Given the description of an element on the screen output the (x, y) to click on. 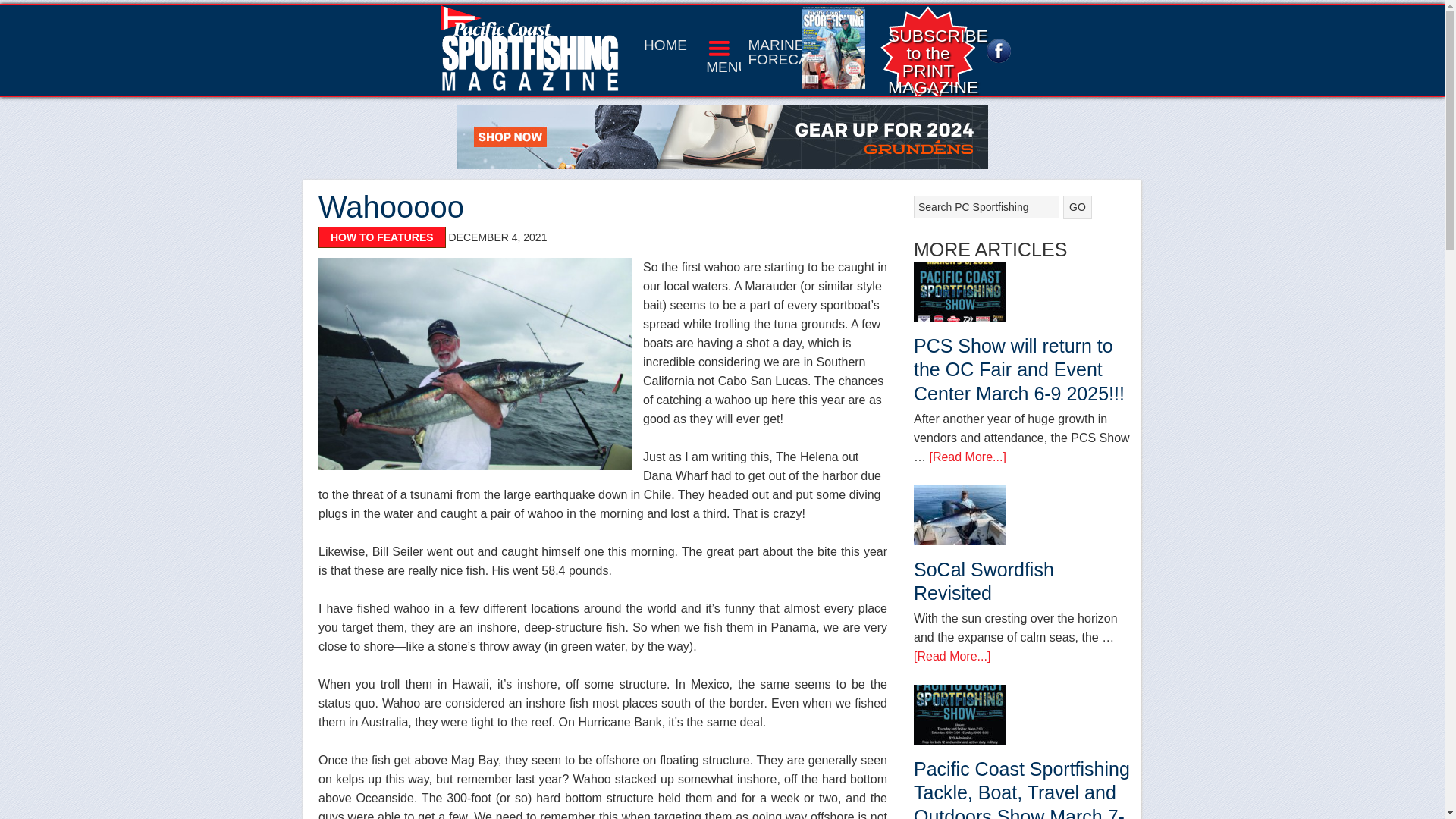
HOW TO FEATURES (381, 236)
GO (915, 61)
GO (1077, 207)
GO (1077, 207)
SoCal Swordfish Revisited (1077, 207)
